Given the description of an element on the screen output the (x, y) to click on. 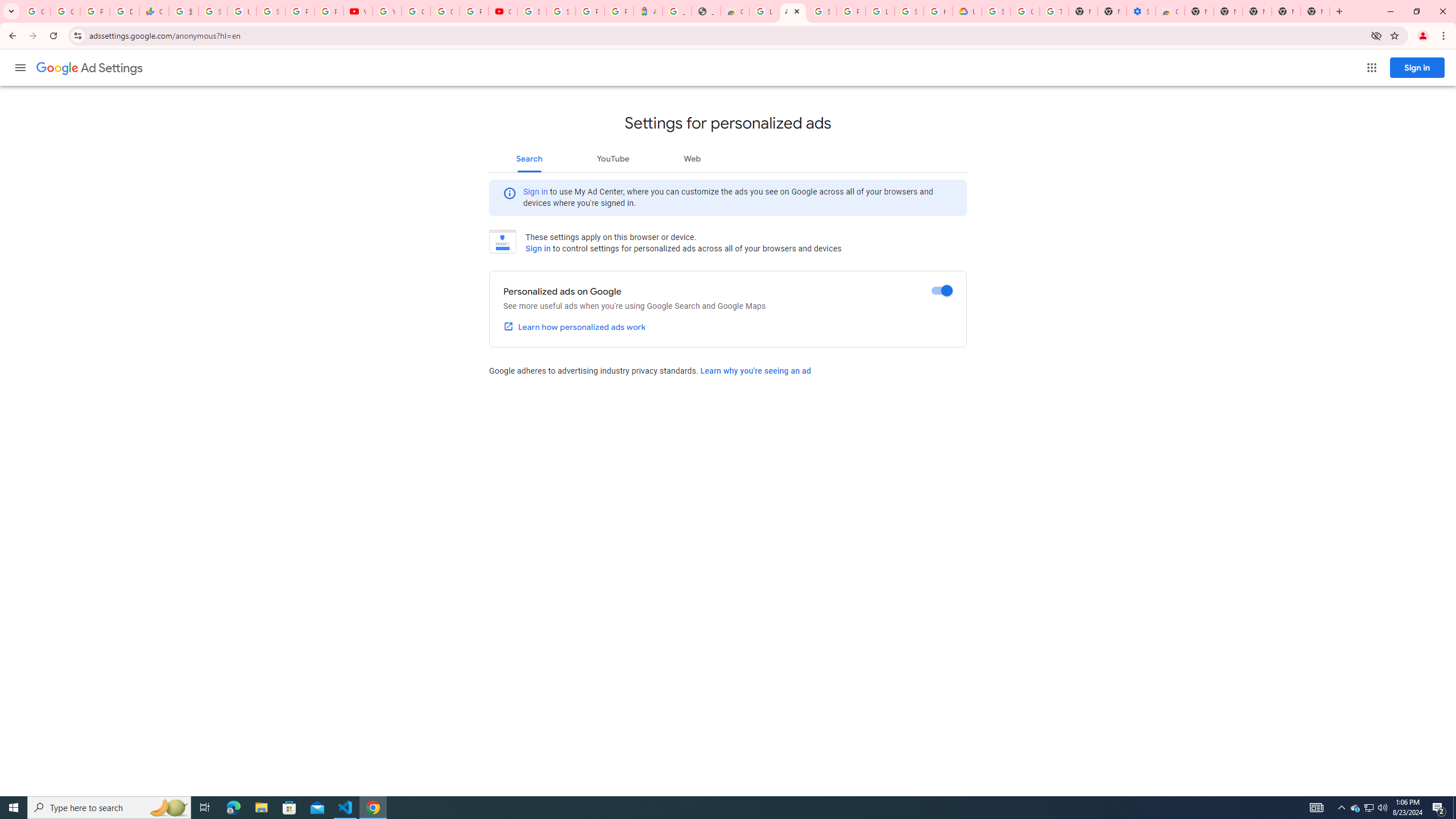
Search (529, 157)
Currencies - Google Finance (153, 11)
Turn cookies on or off - Computer - Google Account Help (1054, 11)
Personalized ads on Google (941, 290)
Web (692, 157)
Chrome Web Store - Accessibility extensions (1169, 11)
Atour Hotel - Google hotels (648, 11)
